Given the description of an element on the screen output the (x, y) to click on. 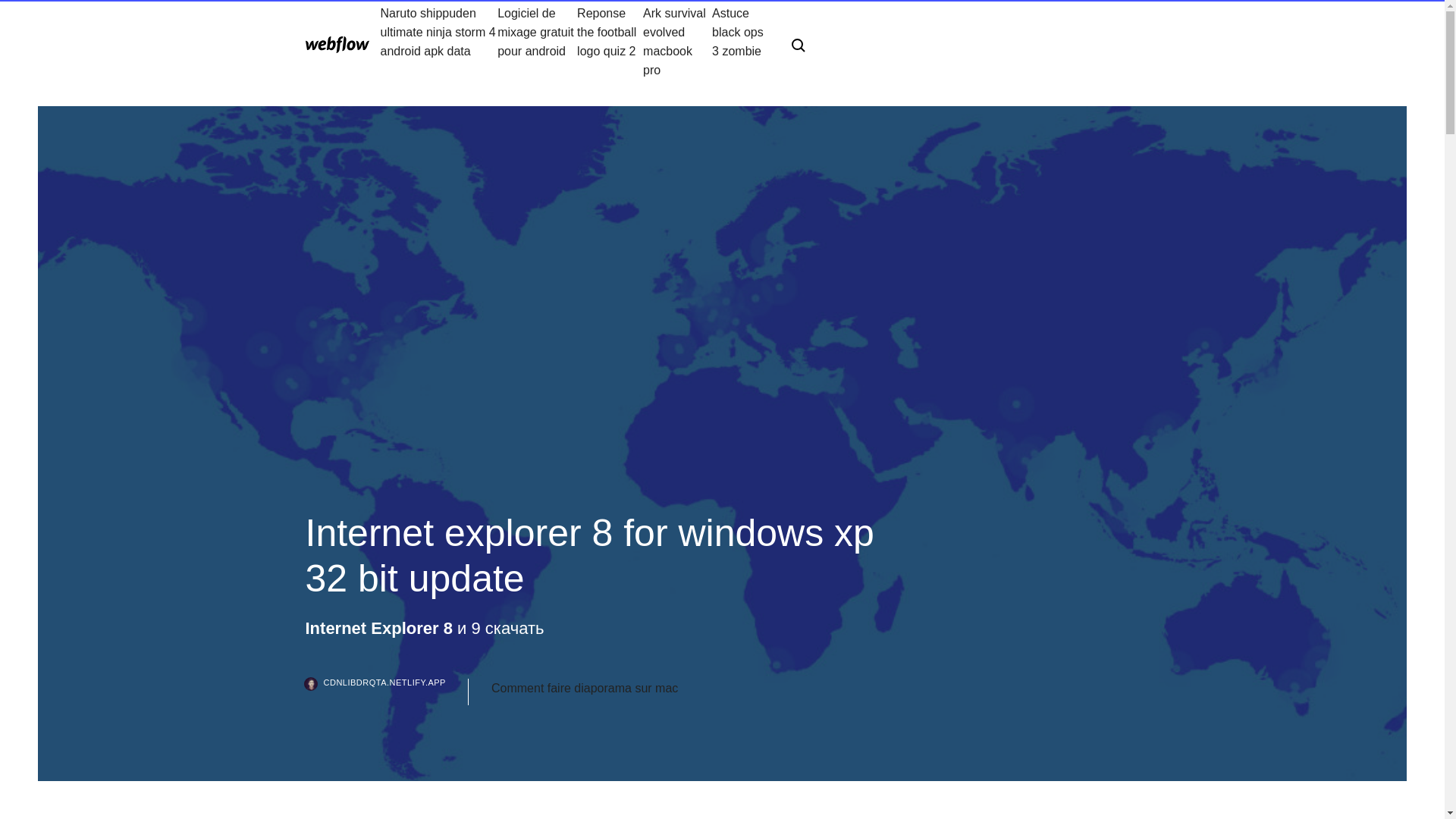
Logiciel de mixage gratuit pour android (536, 41)
Comment faire diaporama sur mac (585, 687)
Ark survival evolved macbook pro (677, 41)
Naruto shippuden ultimate ninja storm 4 android apk data (438, 41)
CDNLIBDRQTA.NETLIFY.APP (385, 691)
